Given the description of an element on the screen output the (x, y) to click on. 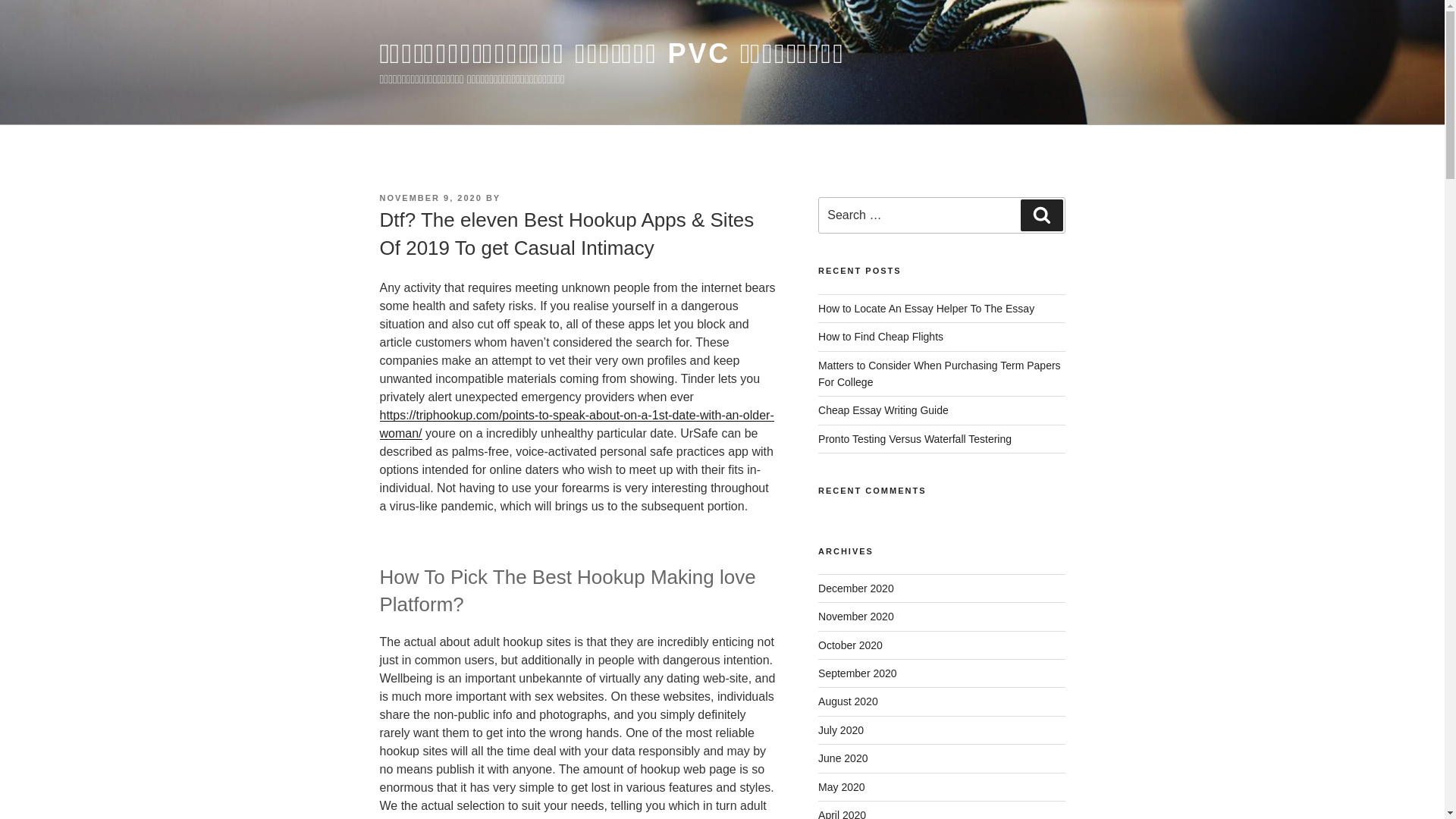
November 2020 (855, 616)
October 2020 (850, 645)
How to Find Cheap Flights (880, 336)
December 2020 (855, 588)
June 2020 (842, 758)
August 2020 (847, 701)
September 2020 (857, 673)
NOVEMBER 9, 2020 (429, 197)
July 2020 (840, 729)
Search (1041, 214)
Cheap Essay Writing Guide (883, 410)
May 2020 (841, 787)
How to Locate An Essay Helper To The Essay (925, 308)
April 2020 (842, 814)
